Given the description of an element on the screen output the (x, y) to click on. 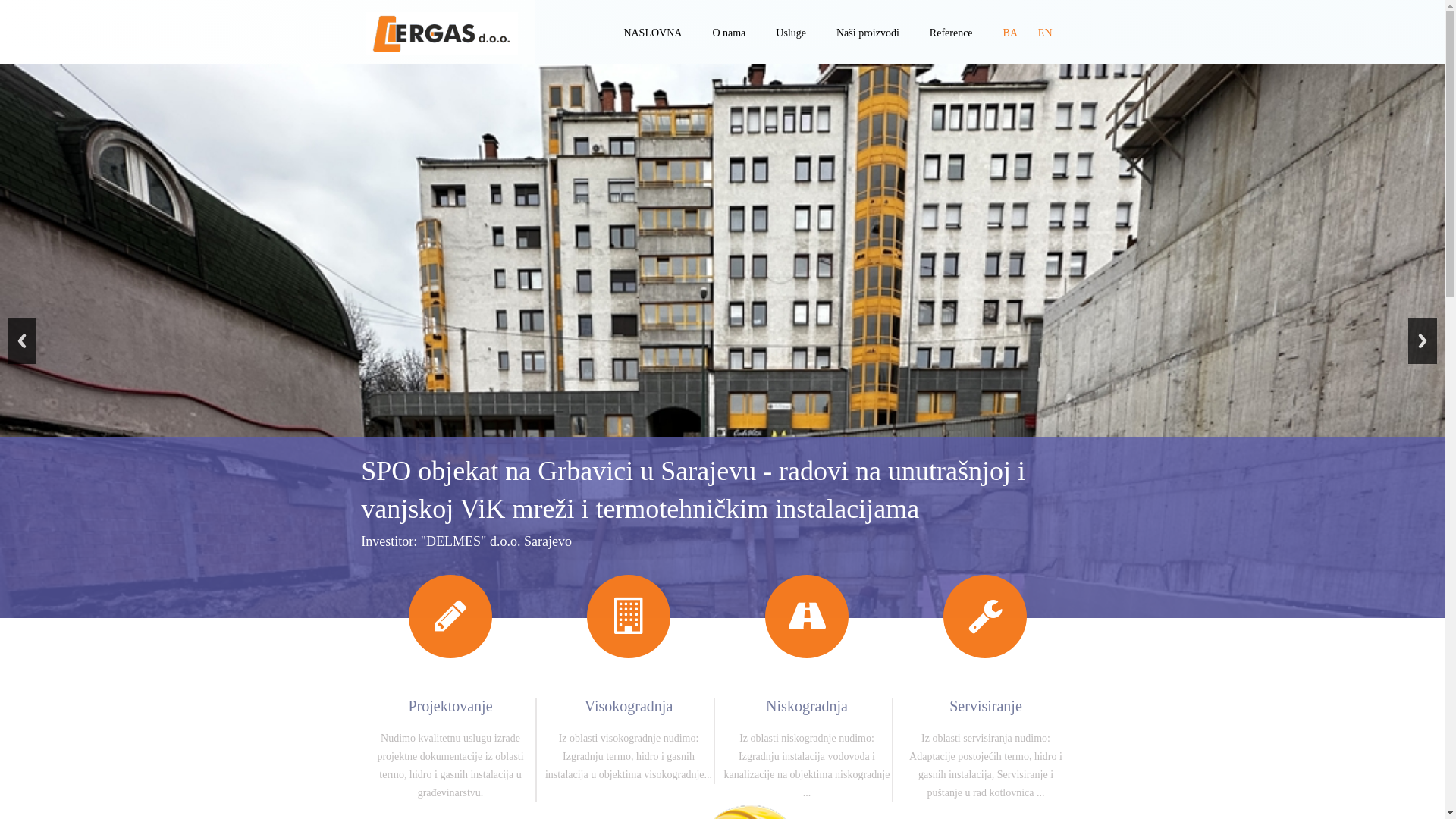
EN Element type: text (1045, 33)
Visokogradnja Element type: text (628, 705)
NASLOVNA Element type: text (652, 33)
Previous Element type: text (21, 340)
Usluge Element type: text (790, 33)
Projektovanje Element type: text (449, 705)
BA Element type: text (1010, 33)
Servisiranje Element type: text (985, 720)
Niskogradnja Element type: text (806, 705)
O nama Element type: text (728, 33)
Next Element type: text (1422, 340)
Reference Element type: text (951, 33)
